Given the description of an element on the screen output the (x, y) to click on. 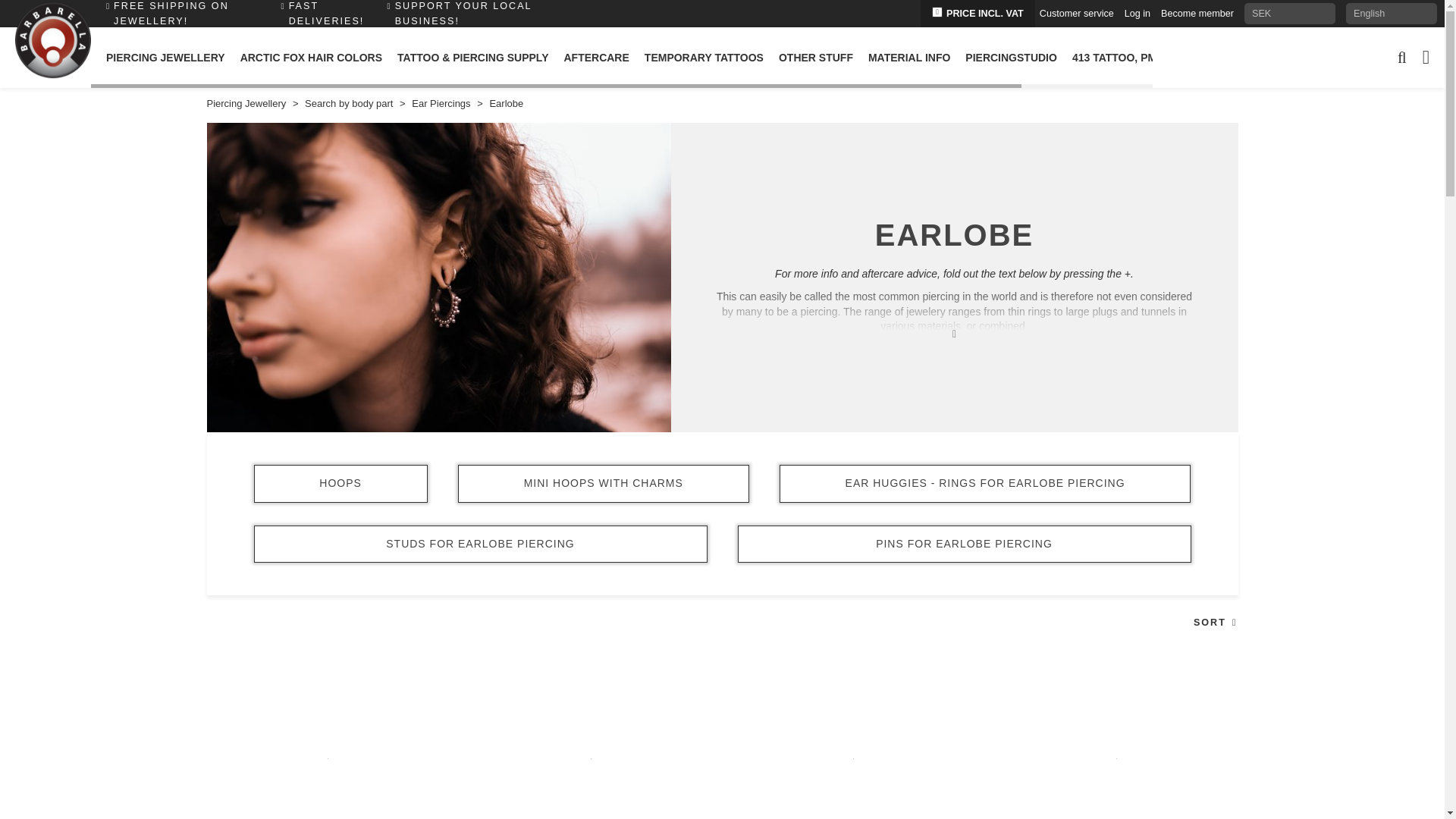
Customer service (1076, 13)
Log in (1137, 13)
Become member (1196, 13)
PIERCING JEWELLERY (165, 57)
Barbarella.se (52, 40)
PRICE INCL. VAT (977, 13)
